Given the description of an element on the screen output the (x, y) to click on. 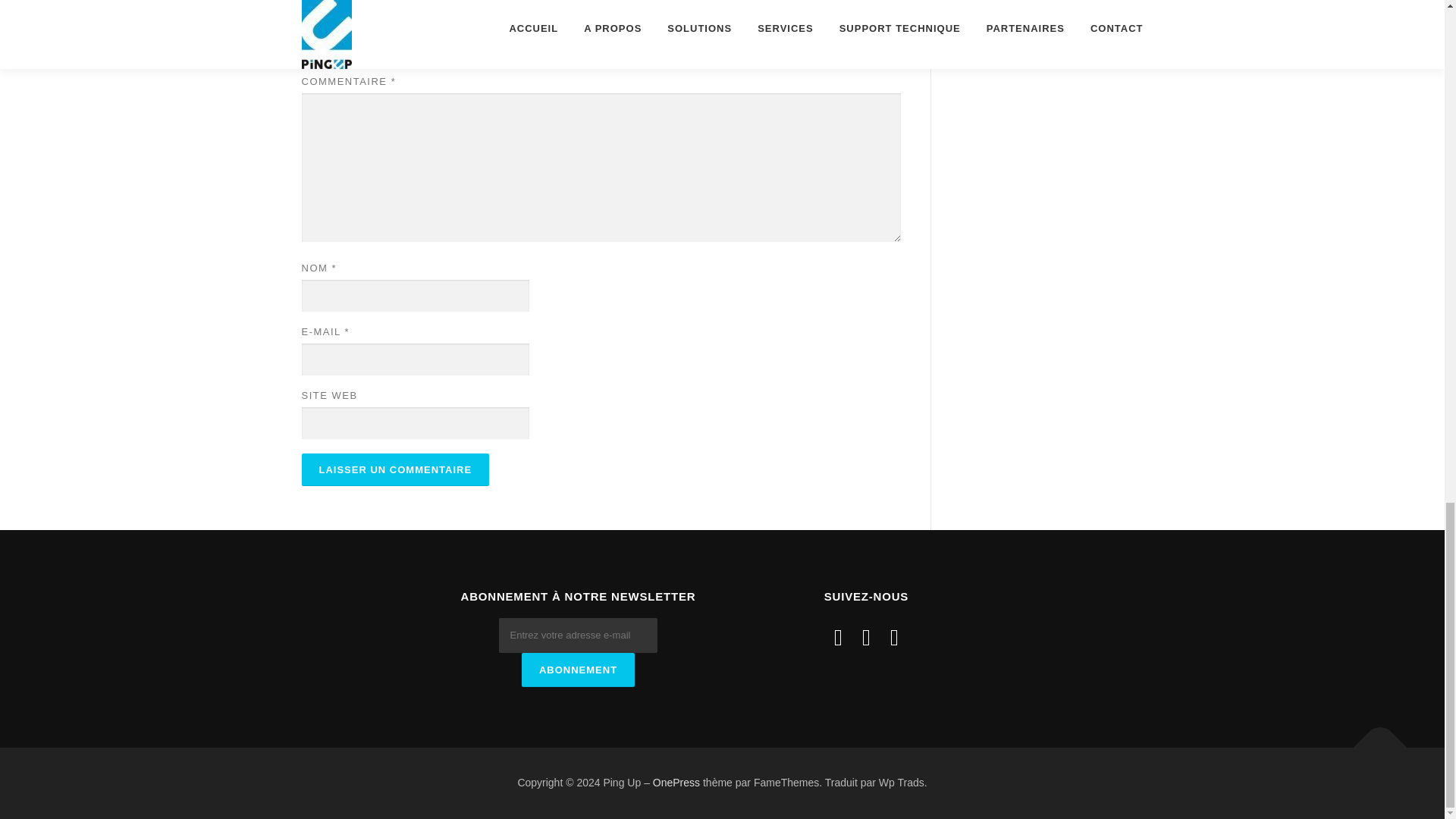
Laisser un commentaire (395, 469)
Abonnement (577, 669)
OnePress (676, 782)
Abonnement (577, 669)
Laisser un commentaire (395, 469)
Retour en haut (1372, 740)
